Given the description of an element on the screen output the (x, y) to click on. 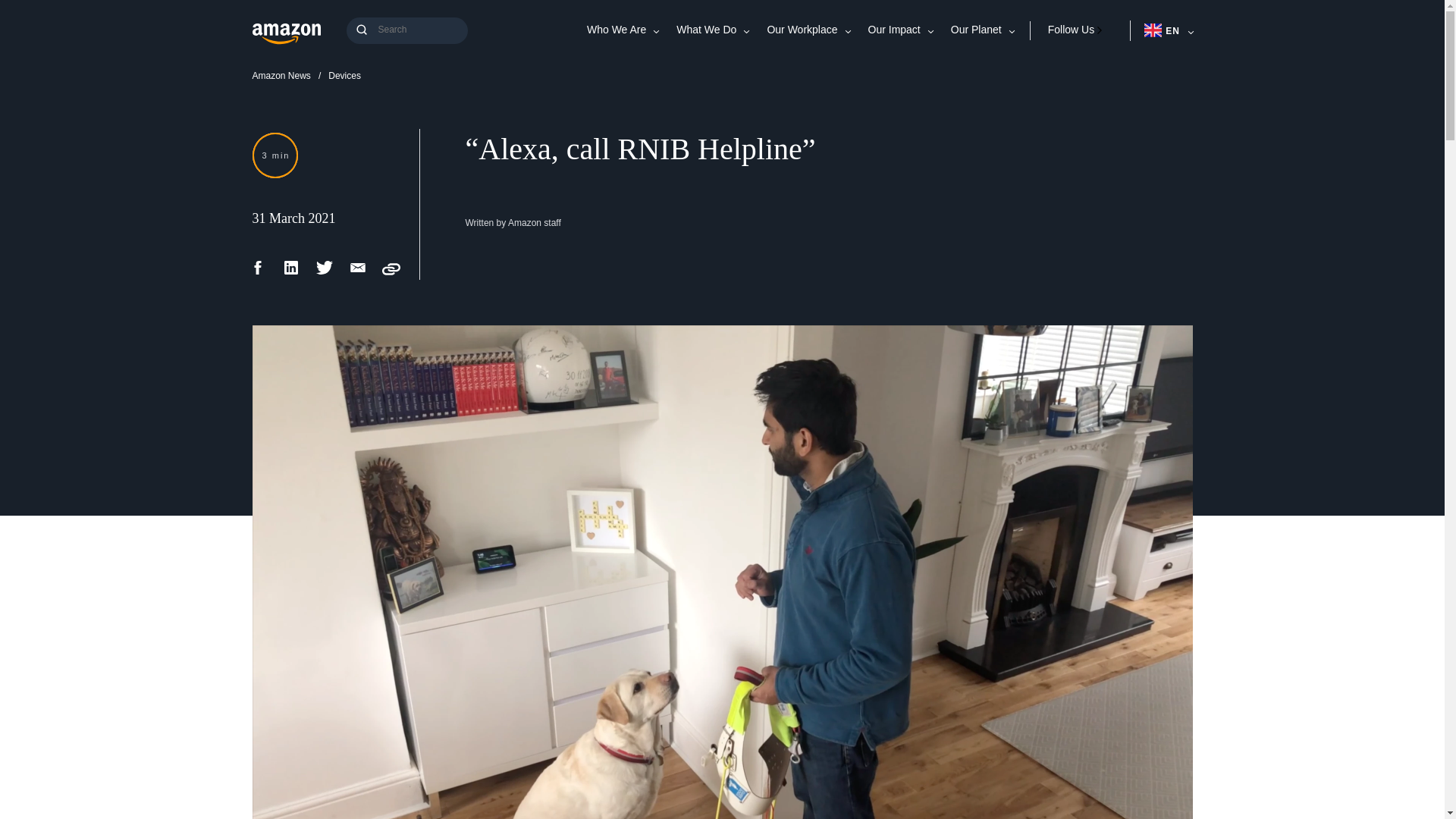
Email Share (357, 272)
Twitter Share (324, 272)
Facebook Share (257, 272)
LinkedIn Share (290, 272)
